Given the description of an element on the screen output the (x, y) to click on. 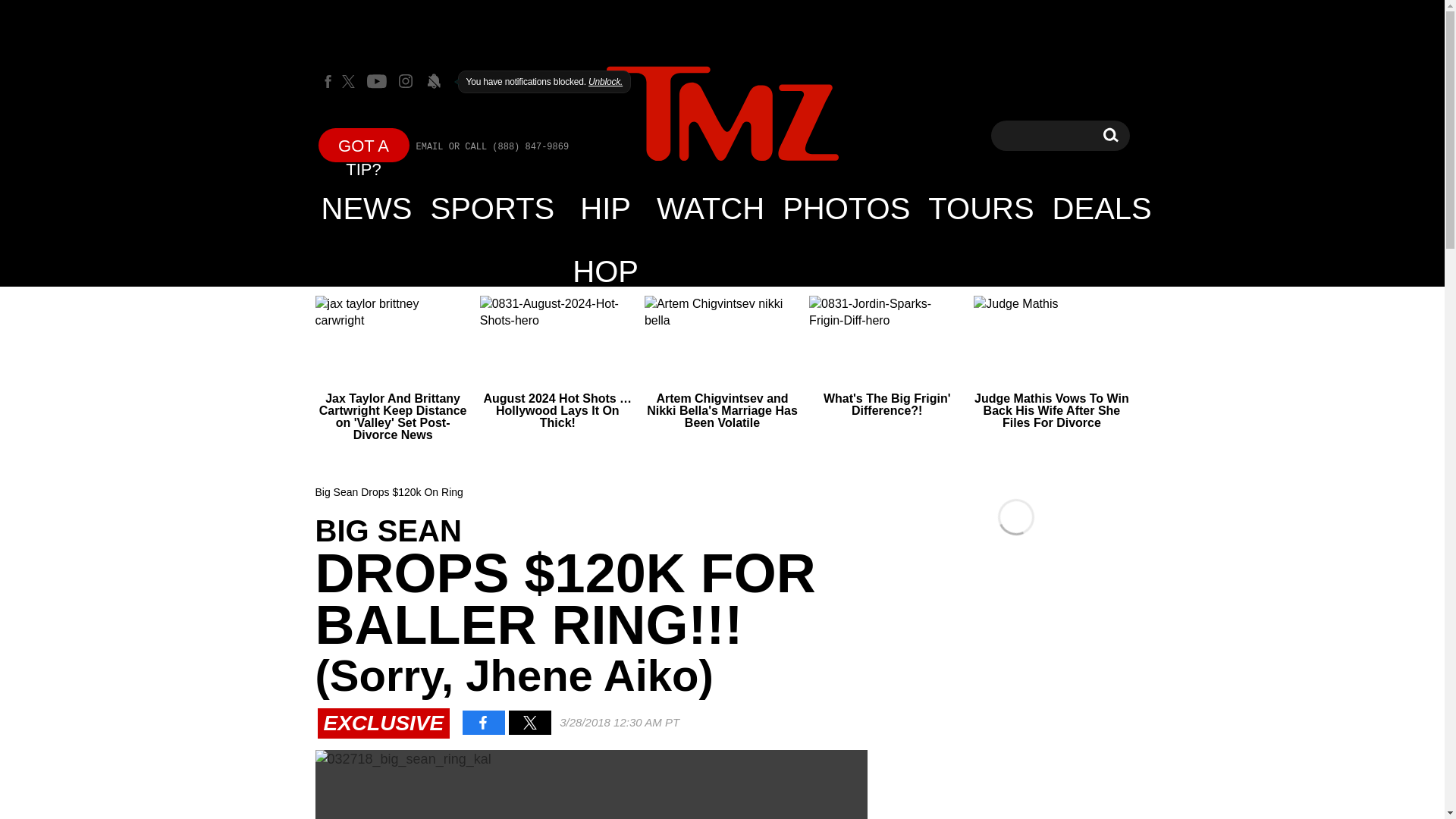
PHOTOS (845, 207)
SPORTS (493, 207)
WATCH (1110, 135)
GOT A TIP? (710, 207)
TMZ (363, 144)
HIP HOP (722, 113)
DEALS (605, 207)
Skip to main content (1101, 207)
